Given the description of an element on the screen output the (x, y) to click on. 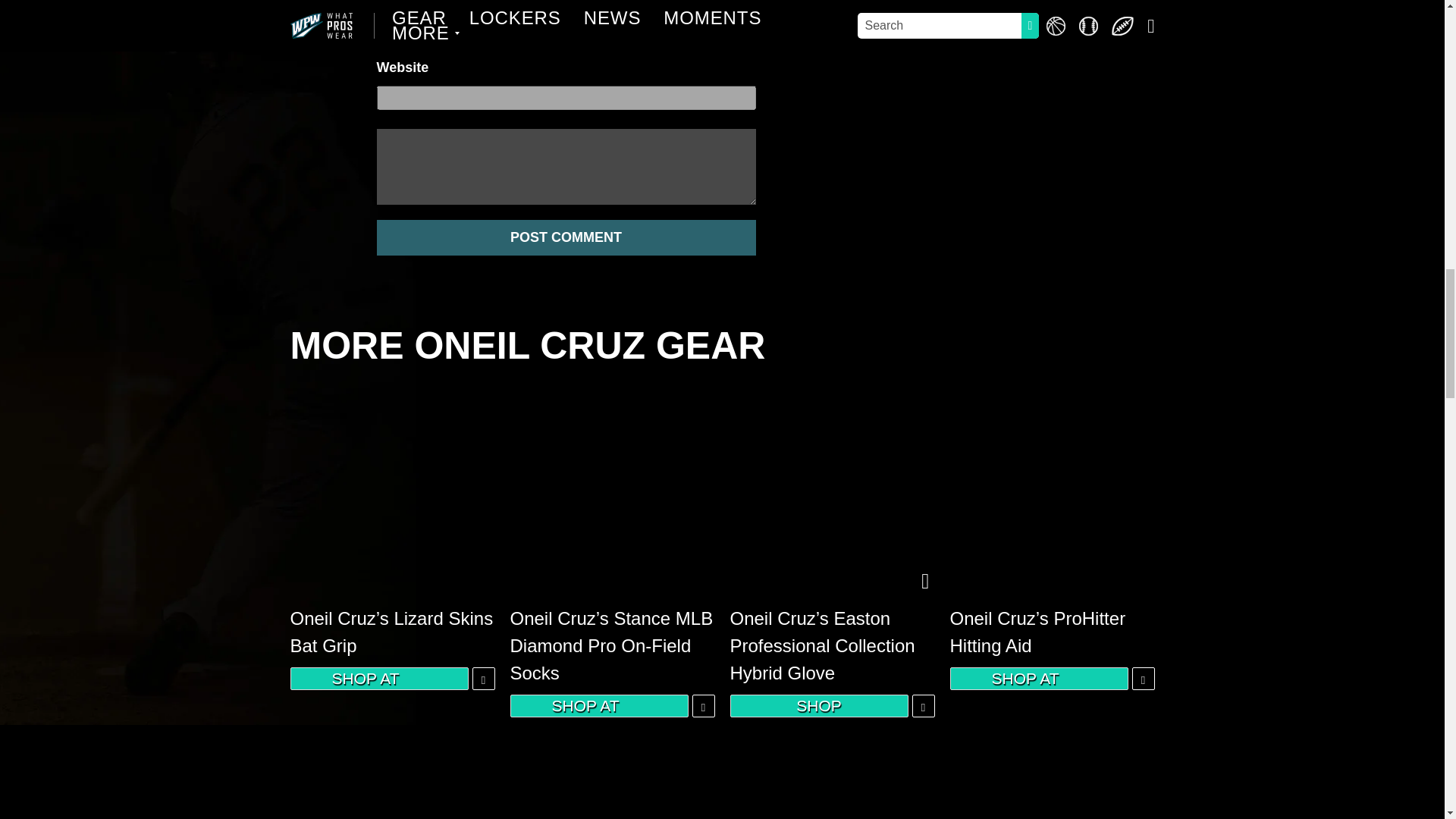
Post Comment (565, 237)
